Given the description of an element on the screen output the (x, y) to click on. 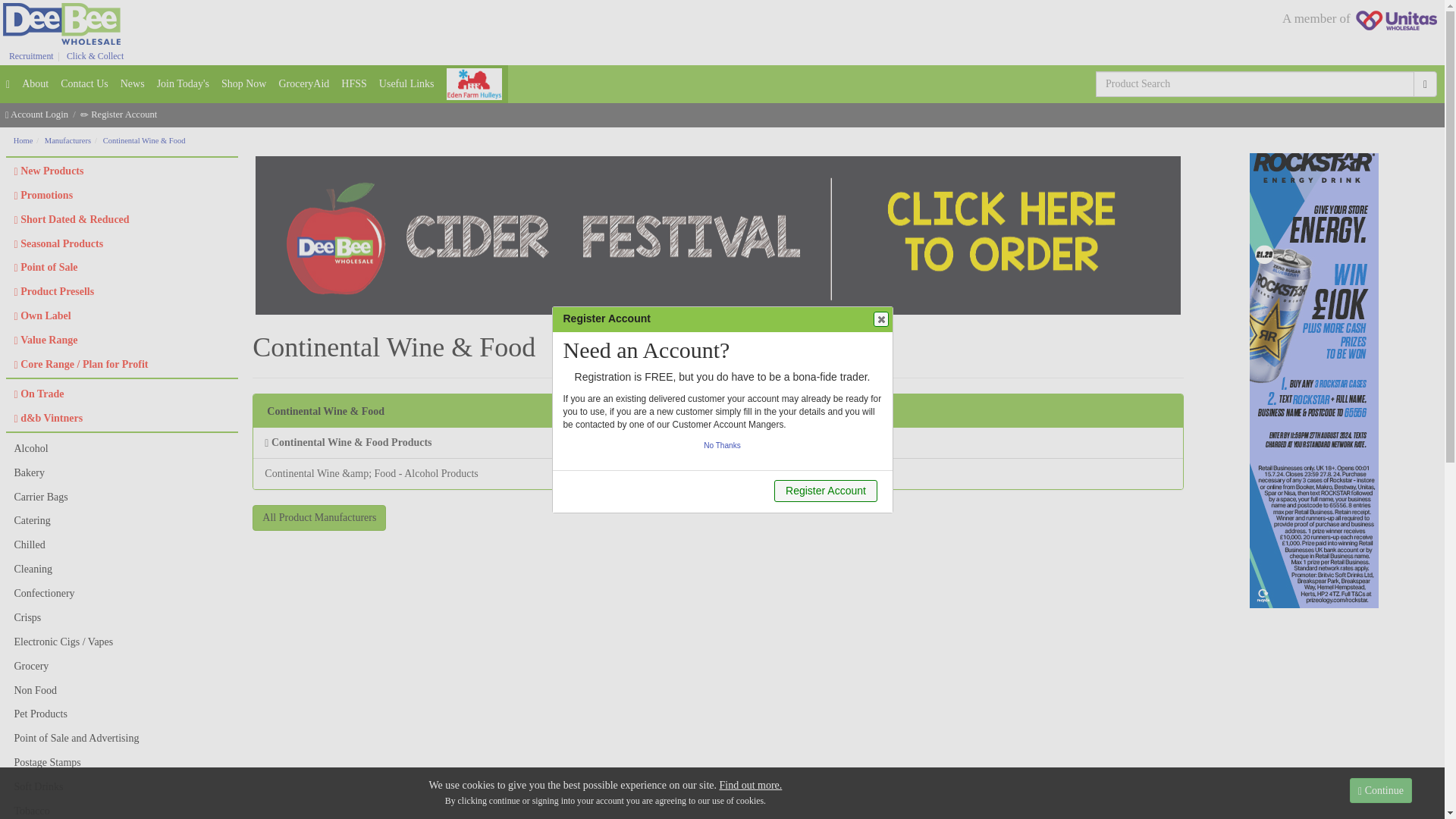
Recruitment (30, 55)
GroceryAid (303, 84)
HFSS (353, 84)
Register Account (118, 113)
Seasonal Products (121, 243)
Manufacturers (67, 140)
View Products in the Alcohol Group (717, 472)
Own Label (121, 315)
Contact Us (85, 84)
View Products in the Confectionery Group (121, 593)
Enter a product description, code or barcode (1254, 84)
home (8, 84)
View Products in the Cleaning Group (121, 569)
About (35, 84)
View Products in the Carrier Bags Group (121, 497)
